Given the description of an element on the screen output the (x, y) to click on. 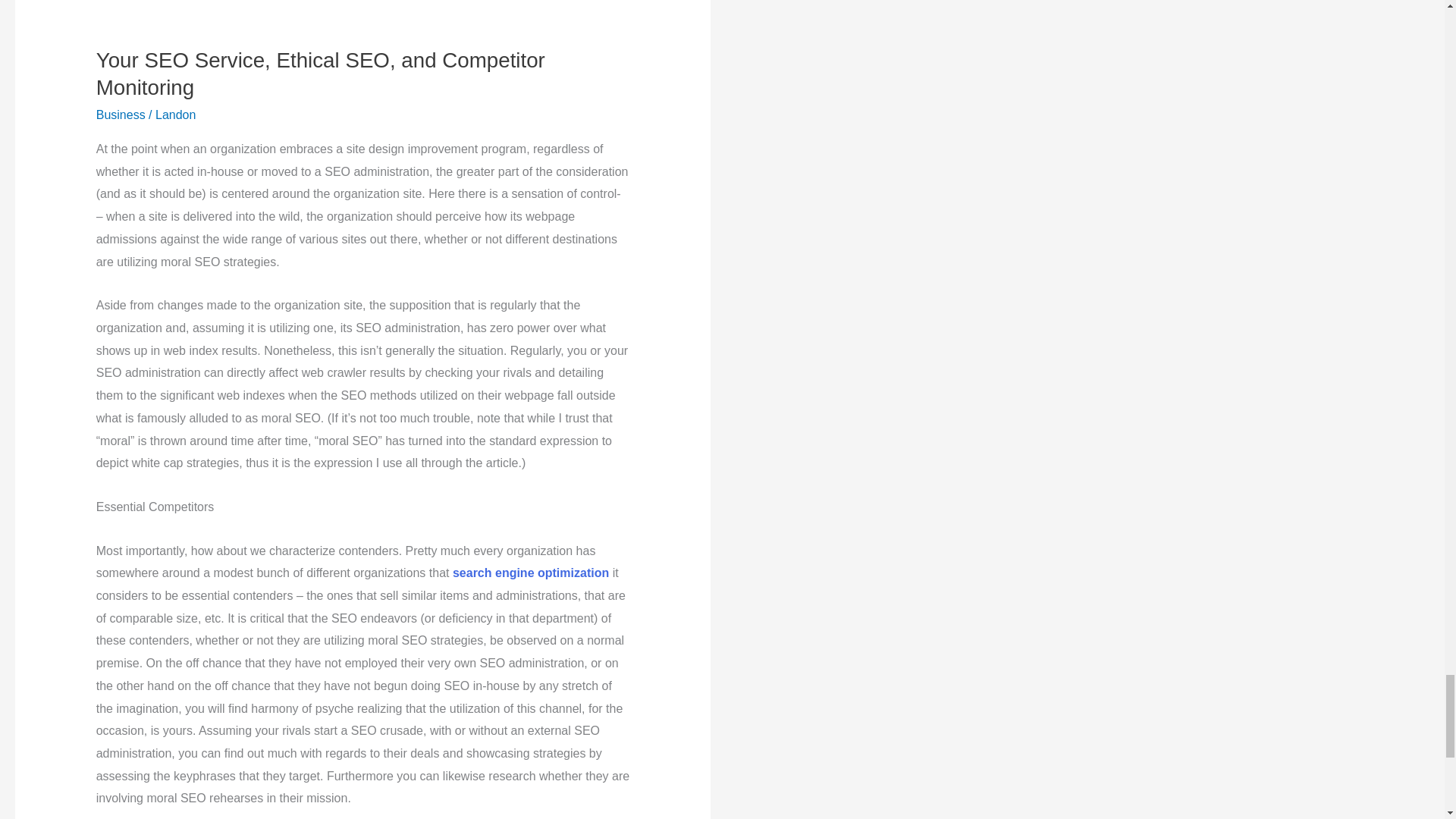
Business (120, 114)
View all posts by Landon (175, 114)
Landon (175, 114)
search engine optimization (530, 572)
Your SEO Service, Ethical SEO, and Competitor Monitoring (320, 73)
